Given the description of an element on the screen output the (x, y) to click on. 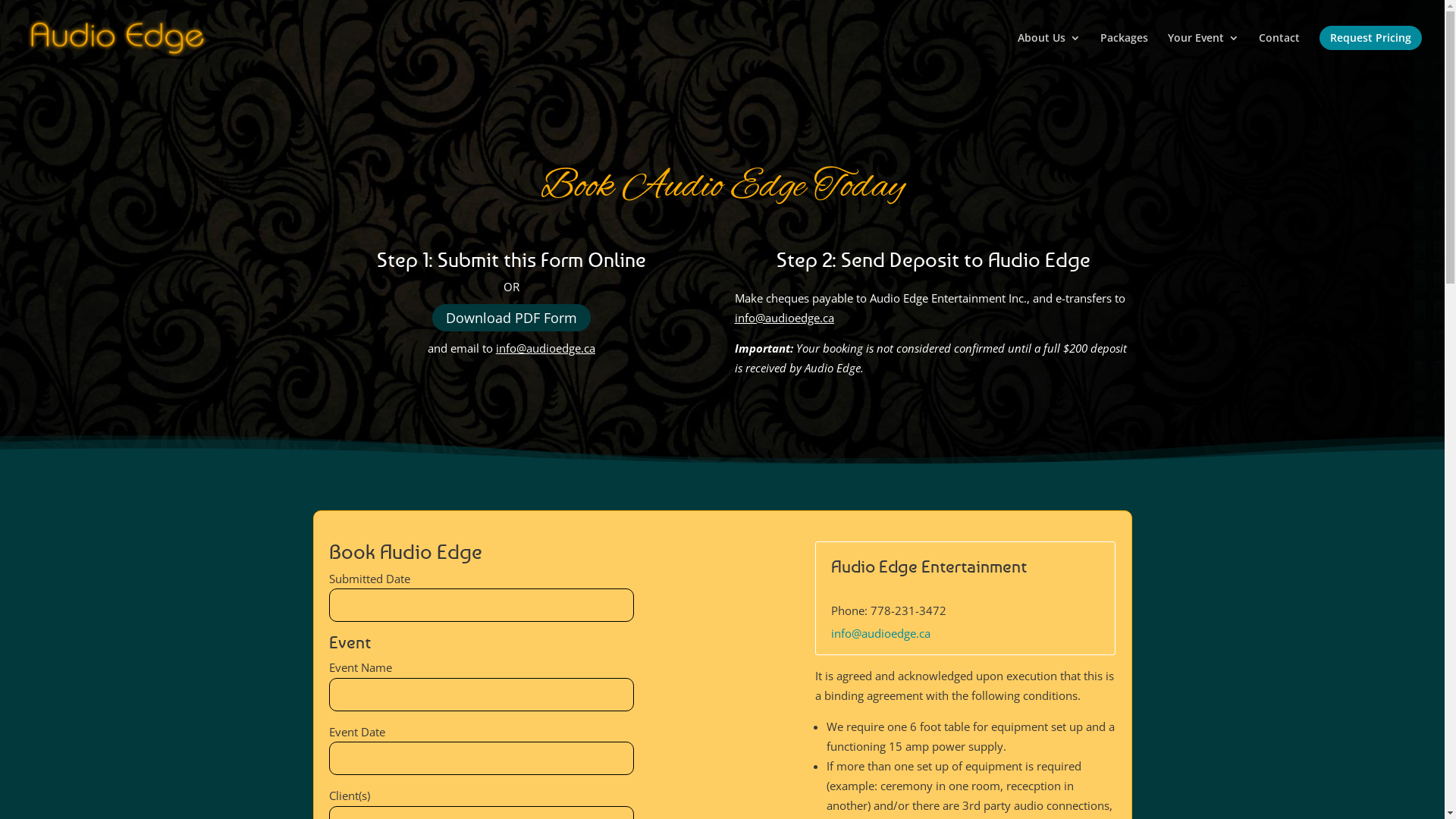
info@audioedge.ca Element type: text (545, 347)
Contact Element type: text (1278, 50)
Download PDF Form Element type: text (511, 317)
Packages Element type: text (1124, 50)
info@audioedge.ca Element type: text (880, 632)
Request Pricing Element type: text (1370, 50)
info@audioedge.ca Element type: text (784, 316)
About Us Element type: text (1048, 50)
Your Event Element type: text (1203, 50)
